Given the description of an element on the screen output the (x, y) to click on. 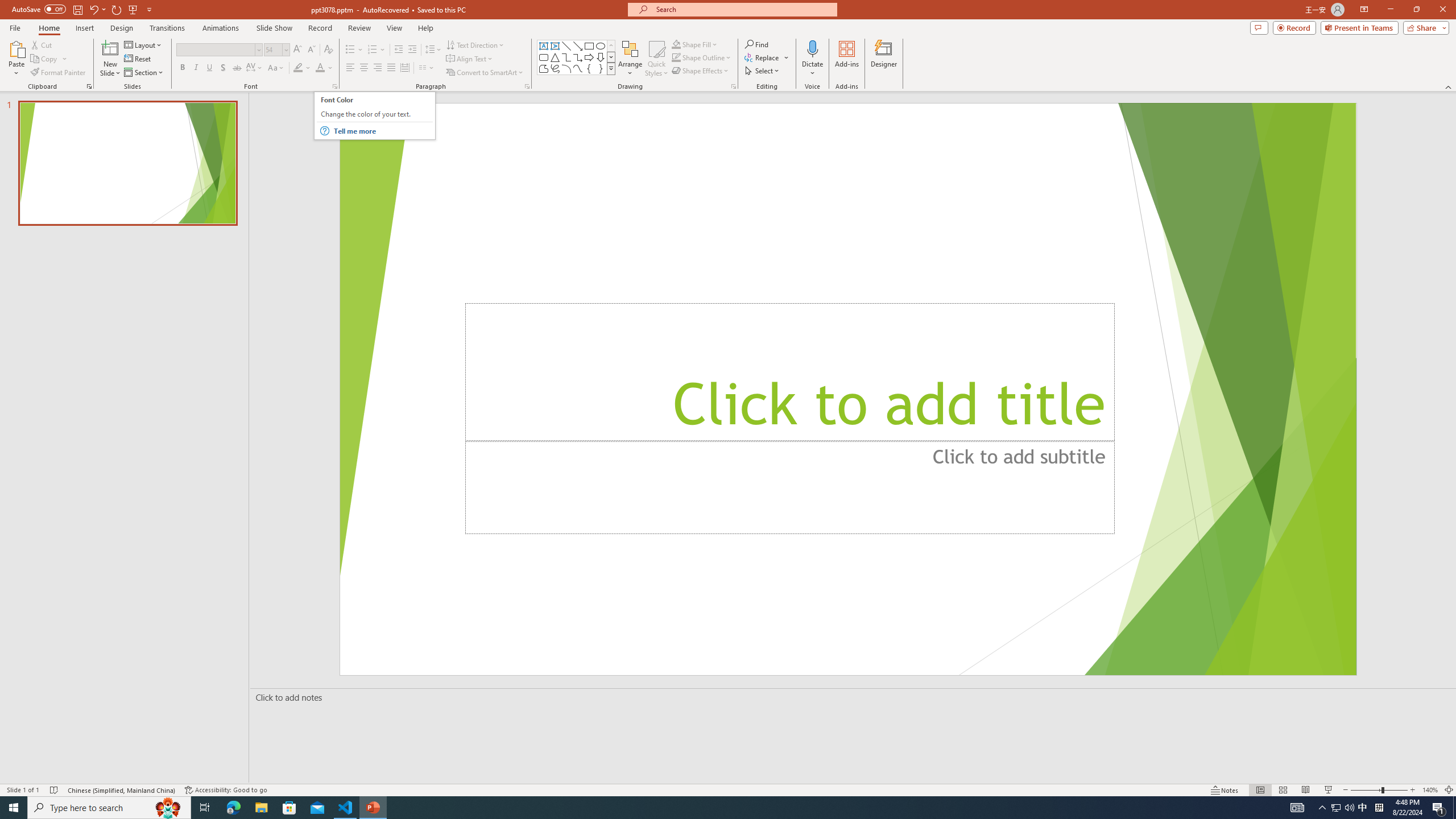
Class: NetUIImage (610, 68)
Format Painter (58, 72)
Slide Show (1328, 790)
Font Color Red (320, 67)
Row Down (611, 56)
Center (363, 67)
System (6, 6)
Clear Formatting (327, 49)
Curve (577, 68)
Close (1442, 9)
Section (144, 72)
Italic (195, 67)
Record (320, 28)
AutomationID: ShapesInsertGallery (576, 57)
Font... (334, 85)
